Given the description of an element on the screen output the (x, y) to click on. 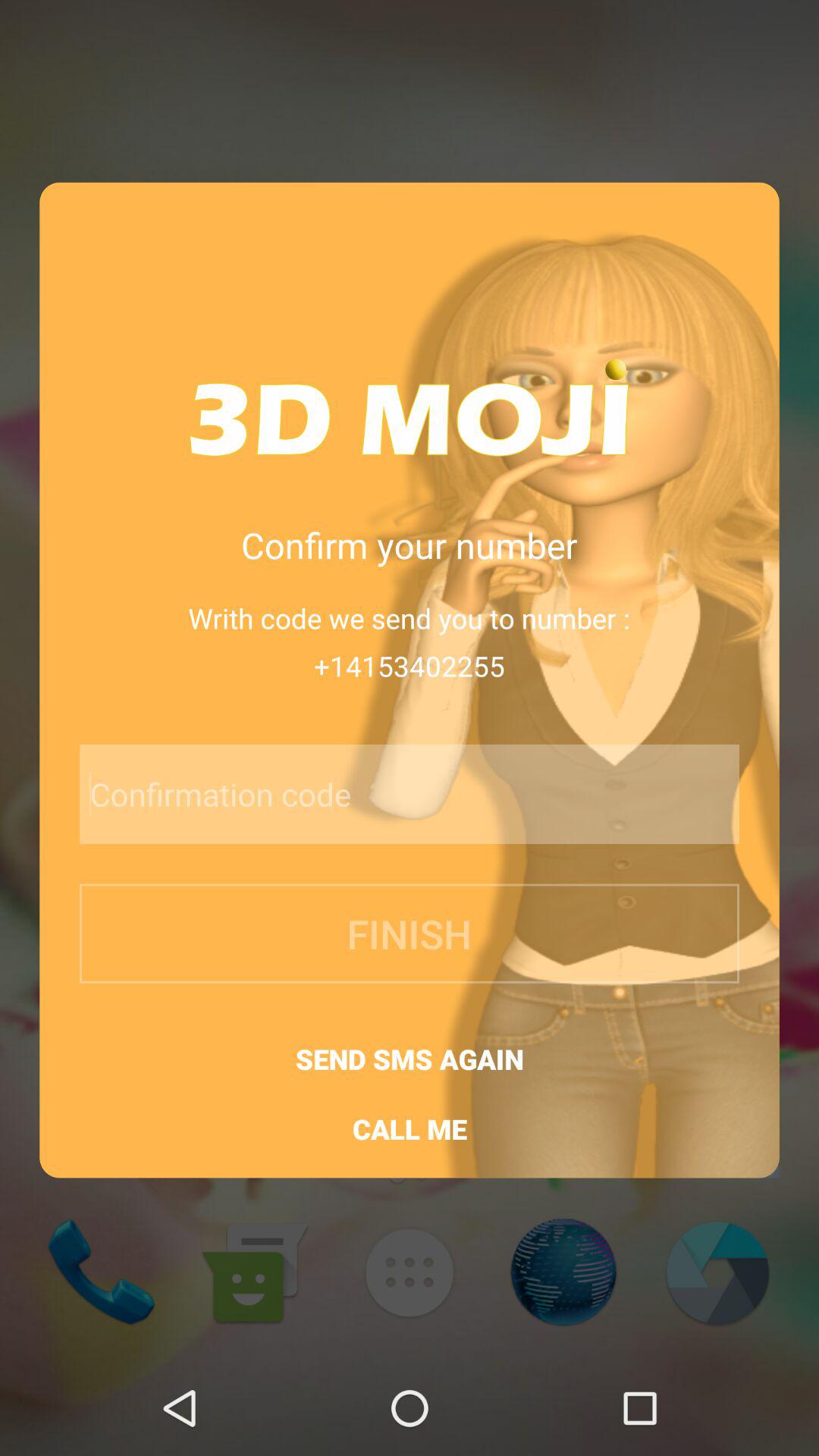
tap call me (409, 1129)
